Given the description of an element on the screen output the (x, y) to click on. 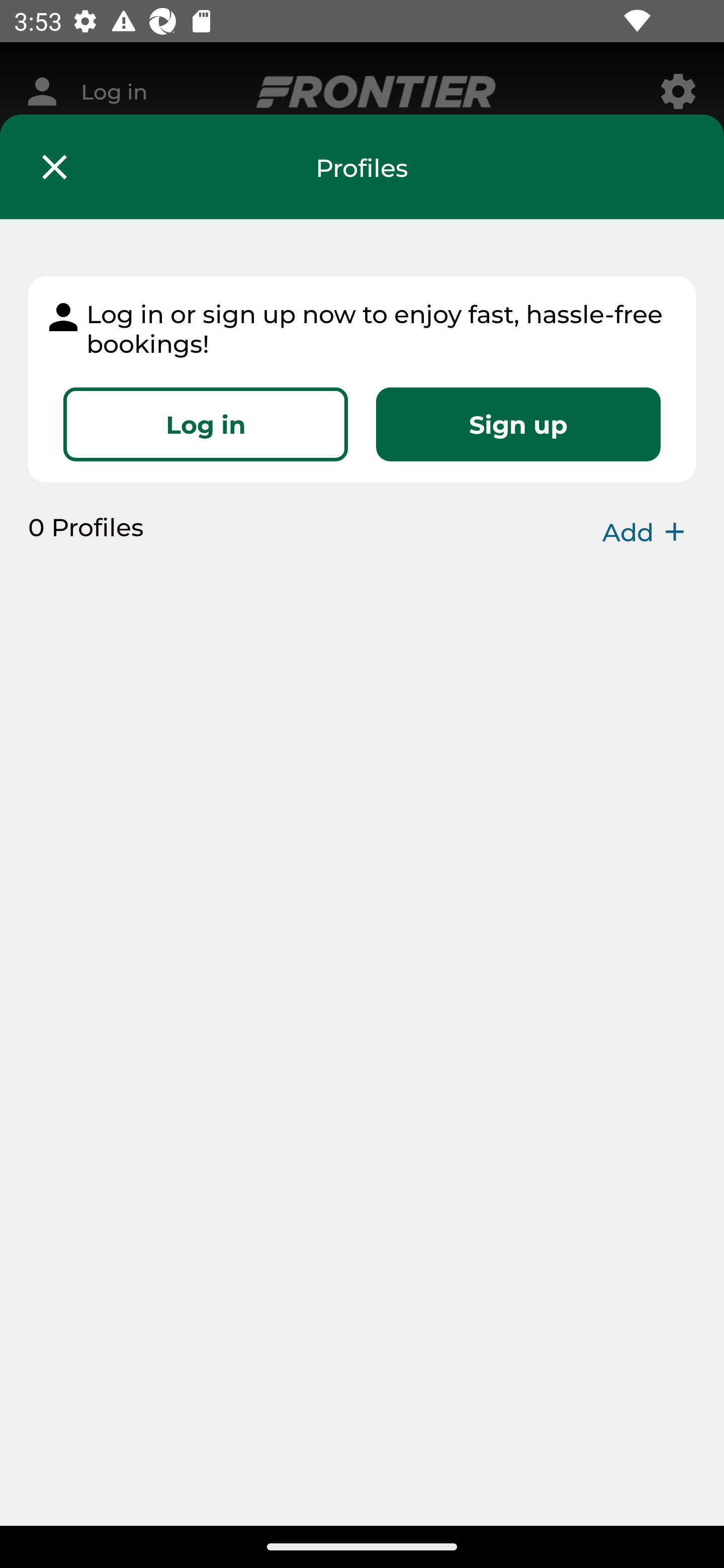
Log in (205, 423)
Sign up (517, 423)
Add (648, 532)
